Given the description of an element on the screen output the (x, y) to click on. 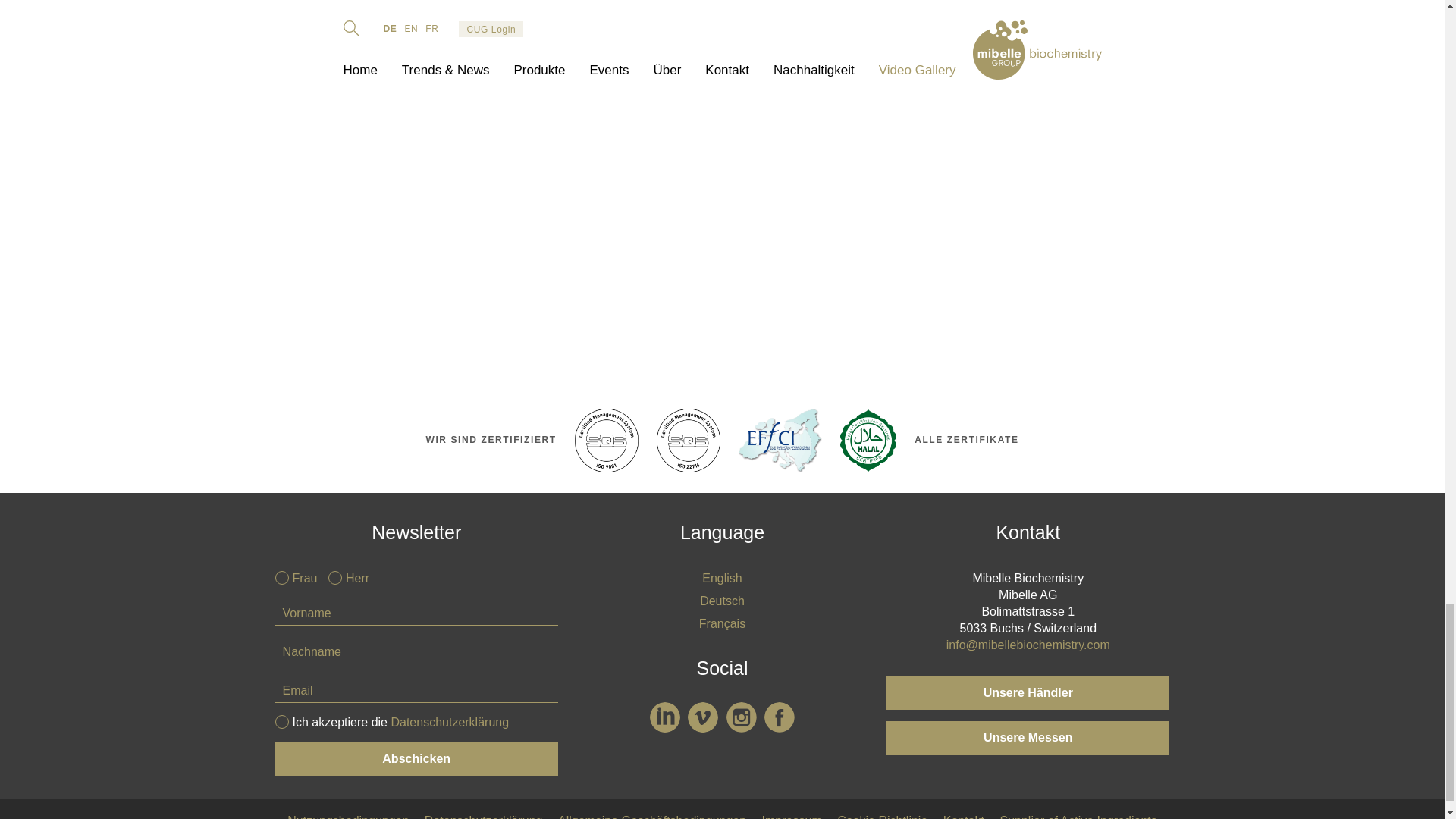
Abschicken (416, 758)
